Given the description of an element on the screen output the (x, y) to click on. 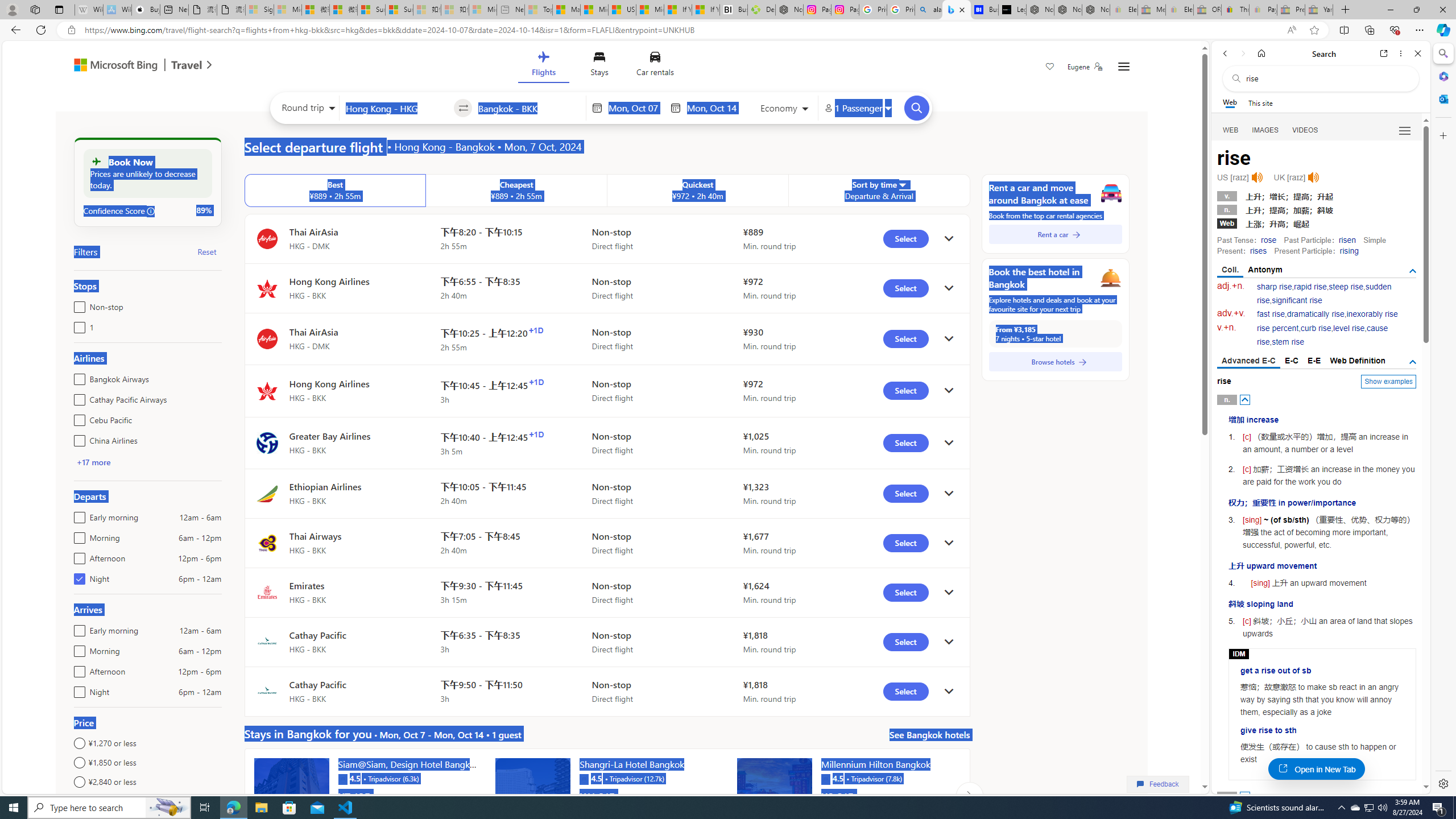
Sorter (901, 184)
Save (1049, 67)
Non-stop (76, 304)
Top Stories - MSN - Sleeping (538, 9)
